Given the description of an element on the screen output the (x, y) to click on. 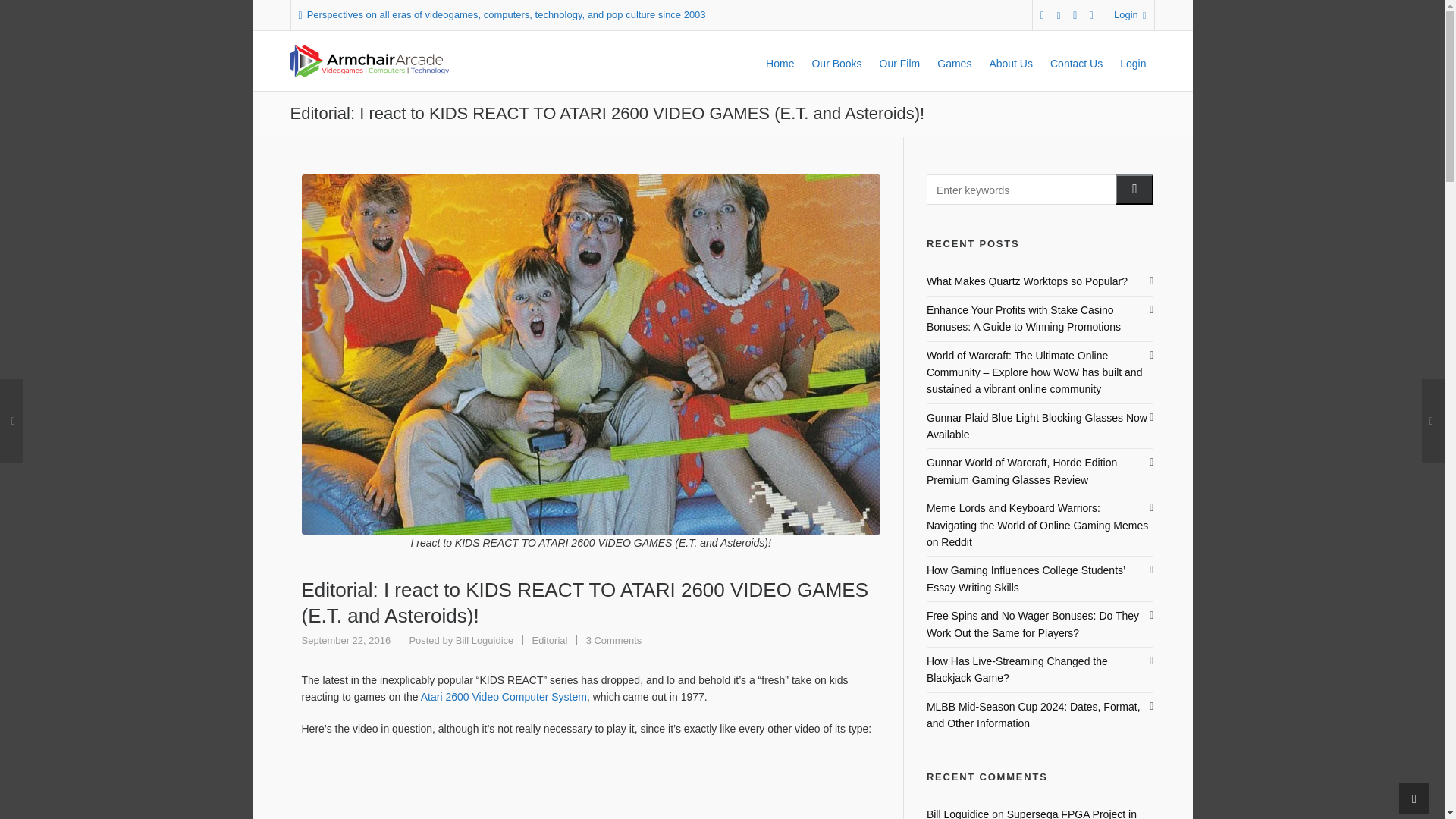
Login (1130, 15)
Our Books (836, 61)
Editorial (549, 640)
3 Comments (614, 640)
3 Comments (614, 640)
About Us (1010, 61)
Atari 2600 Video Computer System (503, 696)
Contact Us (1076, 61)
Bill Loguidice (484, 640)
Our Film (899, 61)
